Given the description of an element on the screen output the (x, y) to click on. 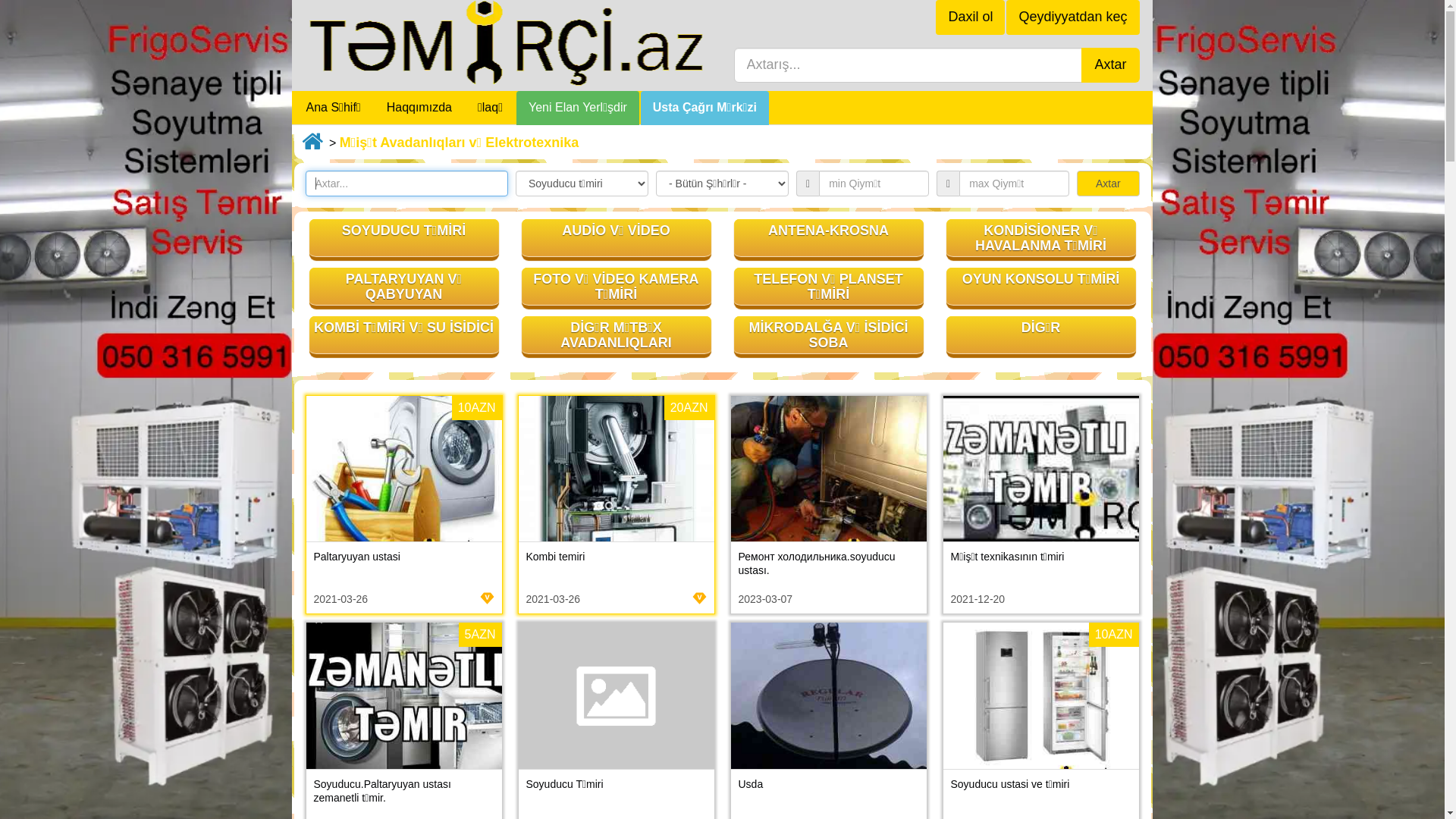
minimum 3 simvol Element type: hover (406, 183)
ANTENA-KROSNA Element type: text (828, 239)
Daxil ol Element type: text (969, 17)
10AZN
Paltaryuyan ustasi
2021-03-26 Element type: text (403, 505)
20AZN
Kombi temiri
2021-03-26 Element type: text (615, 505)
Axtar Element type: text (1110, 64)
Axtar Element type: text (1107, 183)
